Given the description of an element on the screen output the (x, y) to click on. 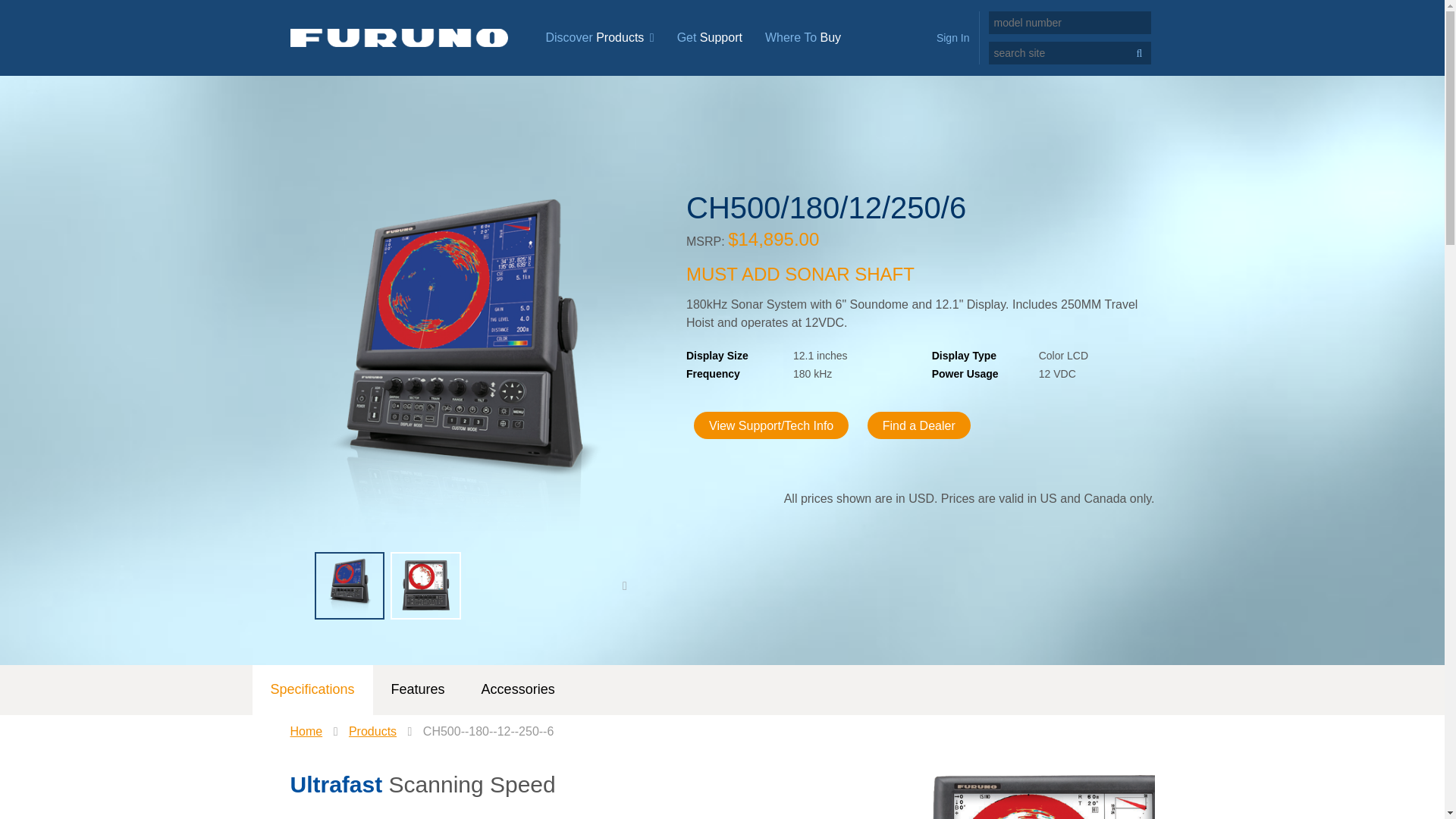
Accessories (518, 689)
Next (624, 585)
Home (305, 730)
Get Support (709, 38)
Discover Products (599, 38)
Sign In (952, 37)
Where To Buy (802, 38)
Products (372, 730)
Find a Dealer (919, 424)
Specifications (311, 689)
Features (417, 689)
